Given the description of an element on the screen output the (x, y) to click on. 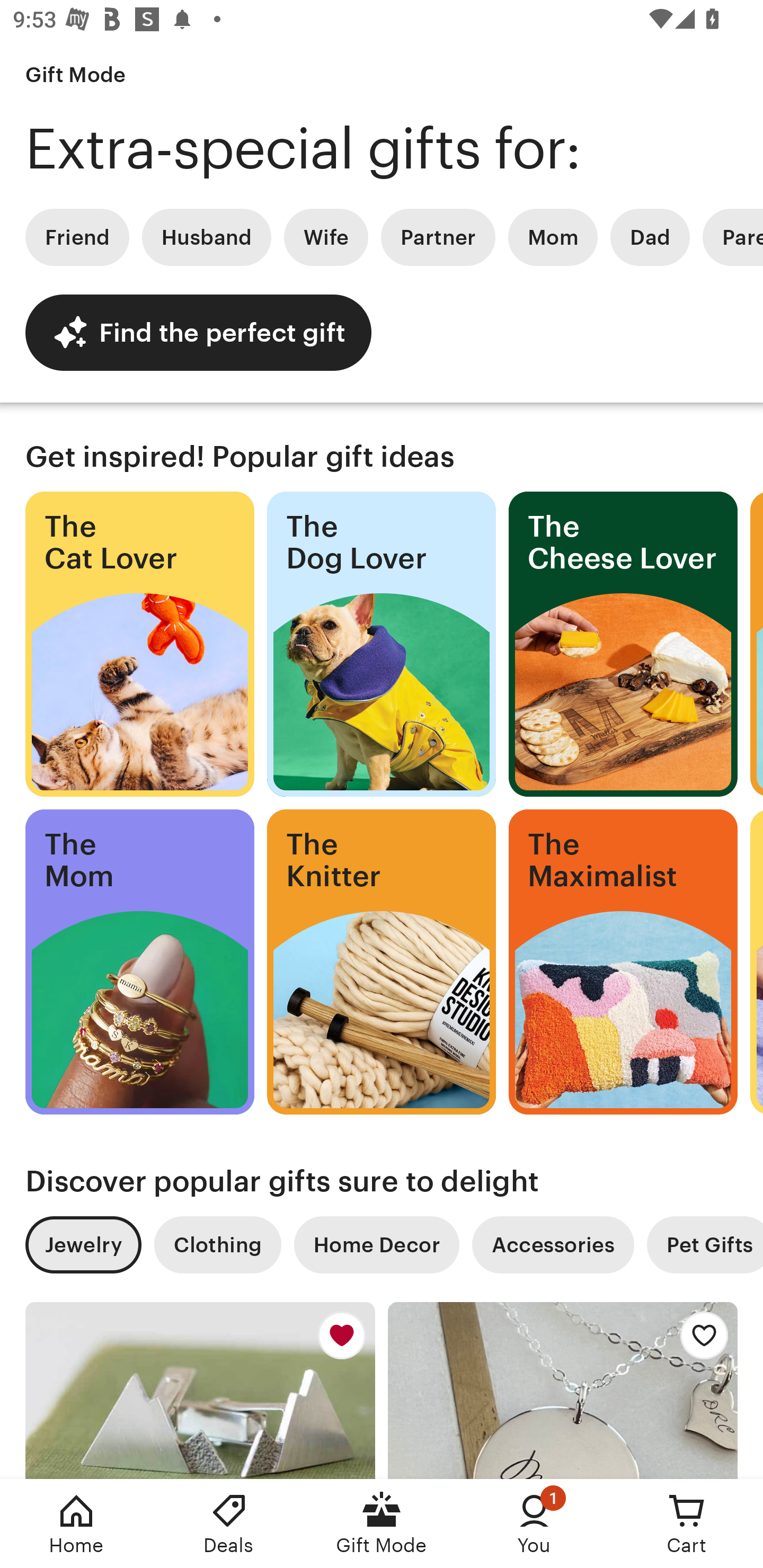
Friend (76, 237)
Husband (206, 237)
Wife (325, 237)
Partner (437, 237)
Mom (552, 237)
Dad (649, 237)
Find the perfect gift (198, 332)
The Cat Lover (139, 644)
The Dog Lover (381, 644)
The Cheese Lover (622, 644)
The Mom (139, 961)
The Knitter (381, 961)
The Maximalist (622, 961)
Jewelry (83, 1244)
Clothing (217, 1244)
Home Decor (376, 1244)
Accessories (553, 1244)
Pet Gifts (705, 1244)
Home (76, 1523)
Deals (228, 1523)
You, 1 new notification You (533, 1523)
Cart (686, 1523)
